Given the description of an element on the screen output the (x, y) to click on. 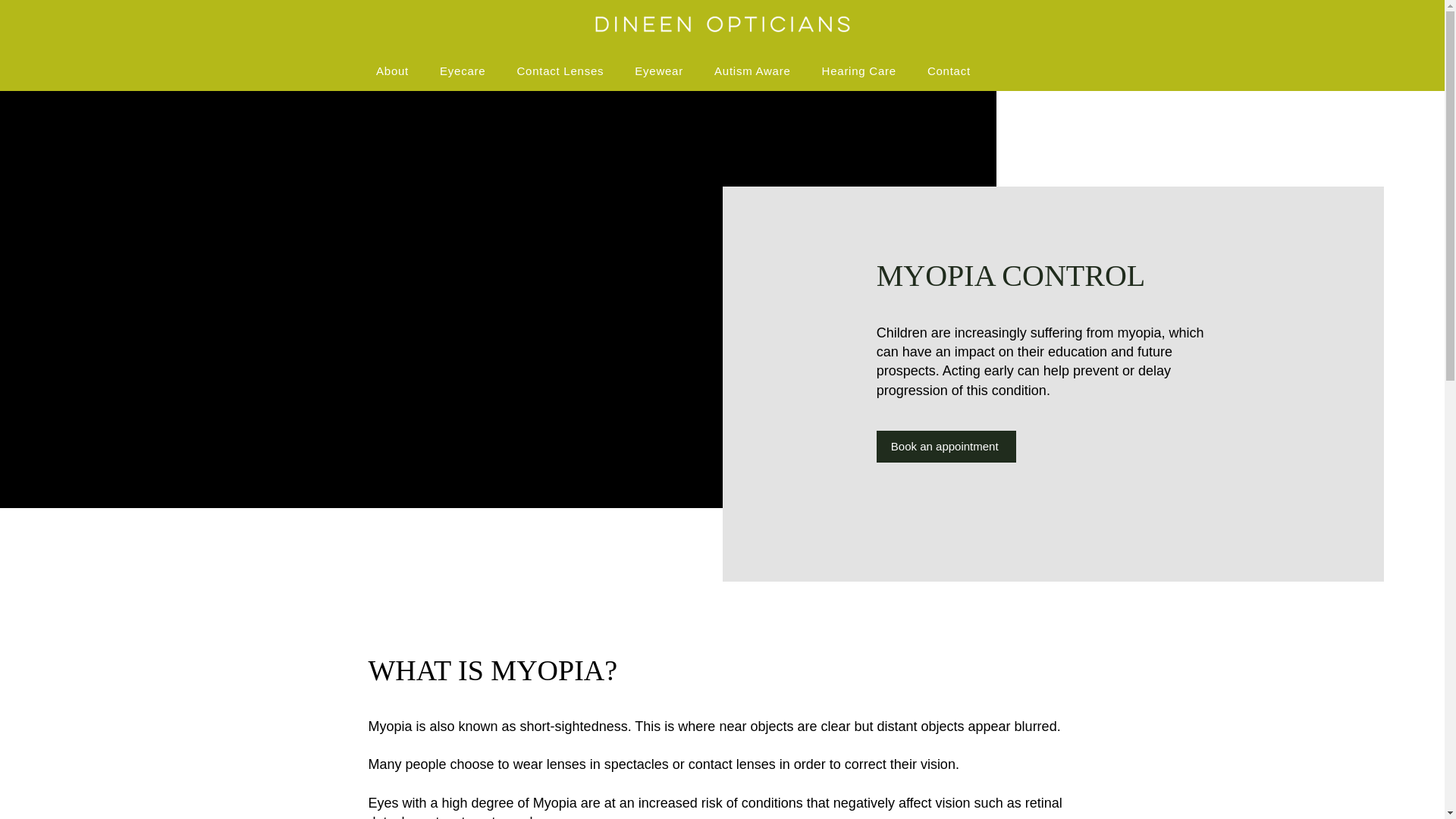
Autism Aware (752, 70)
Eyewear (659, 70)
Book an appointment (946, 446)
About (393, 70)
Contact (948, 70)
Contact Lenses (559, 70)
Hearing Care (858, 70)
